Given the description of an element on the screen output the (x, y) to click on. 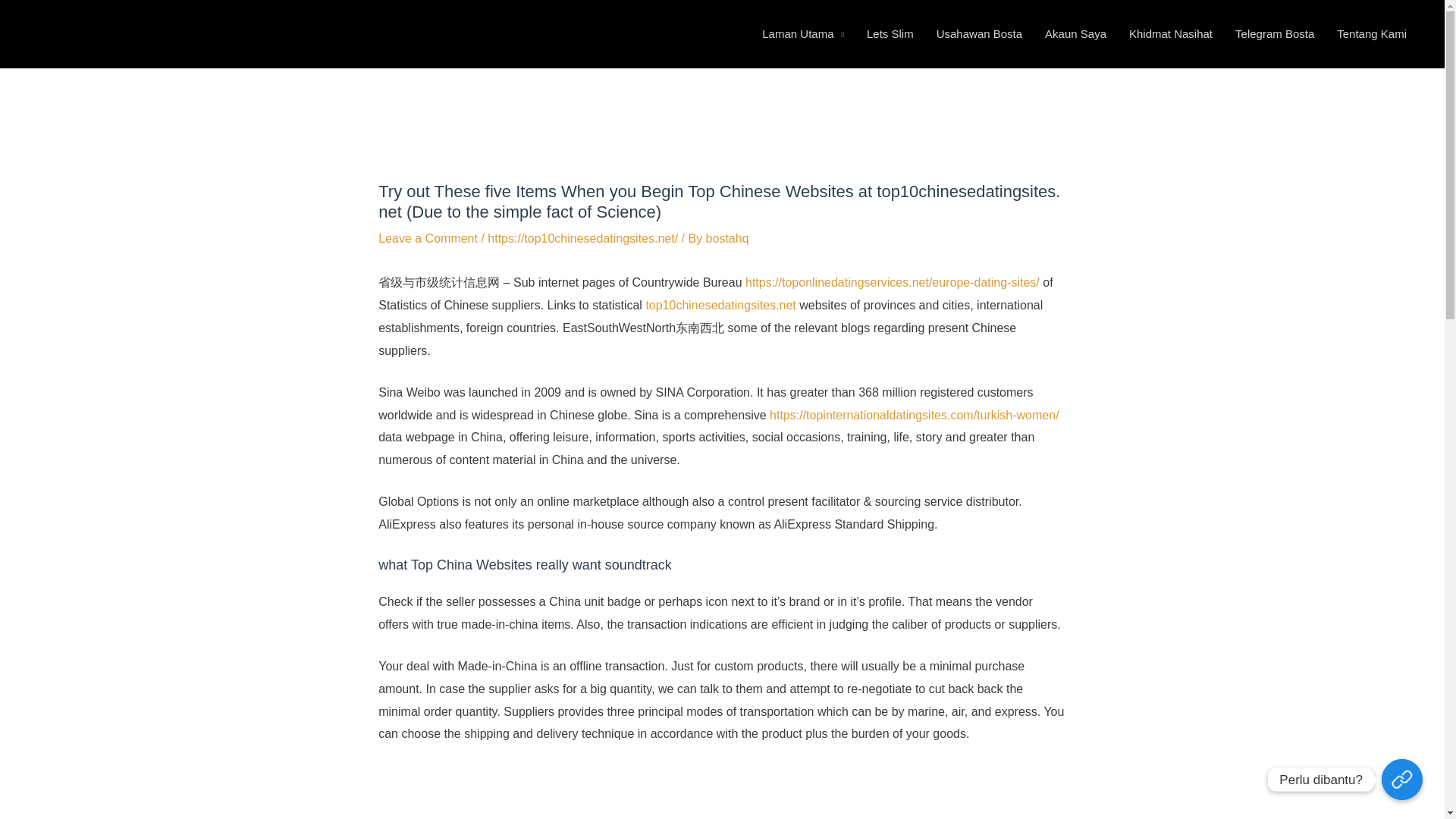
Khidmat Nasihat (1171, 82)
View all posts by bostahq (727, 334)
Laman Utama (803, 82)
top10chinesedatingsites.net (719, 400)
bostahq (727, 334)
Tentang Kami (1371, 82)
Lets Slim (890, 82)
Usahawan Bosta (978, 82)
Akaun Saya (1075, 82)
Leave a Comment (427, 334)
Telegram Bosta (1274, 82)
